Given the description of an element on the screen output the (x, y) to click on. 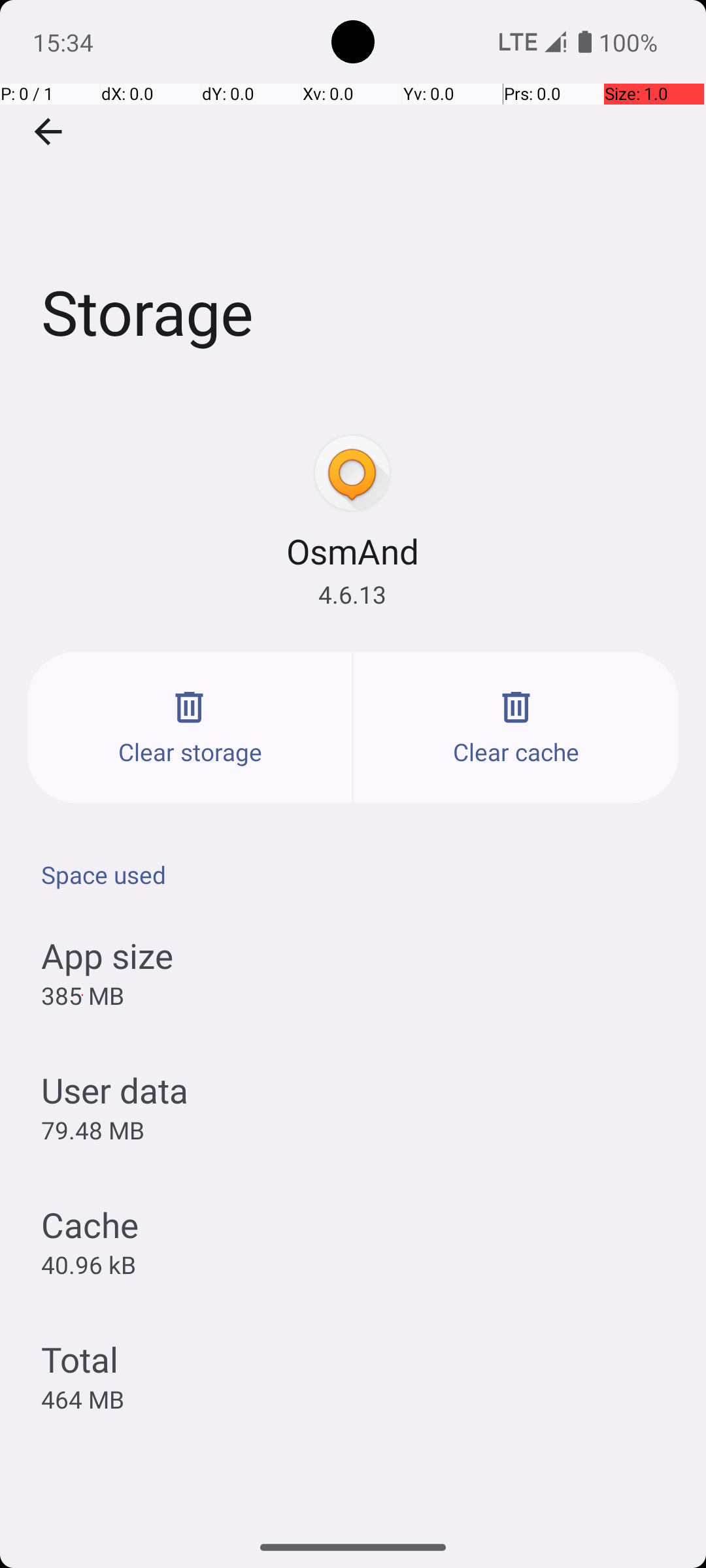
4.6.13 Element type: android.widget.TextView (352, 593)
Clear storage Element type: android.widget.Button (189, 727)
385 MB Element type: android.widget.TextView (82, 995)
79.48 MB Element type: android.widget.TextView (92, 1129)
40.96 kB Element type: android.widget.TextView (88, 1264)
464 MB Element type: android.widget.TextView (82, 1398)
